Given the description of an element on the screen output the (x, y) to click on. 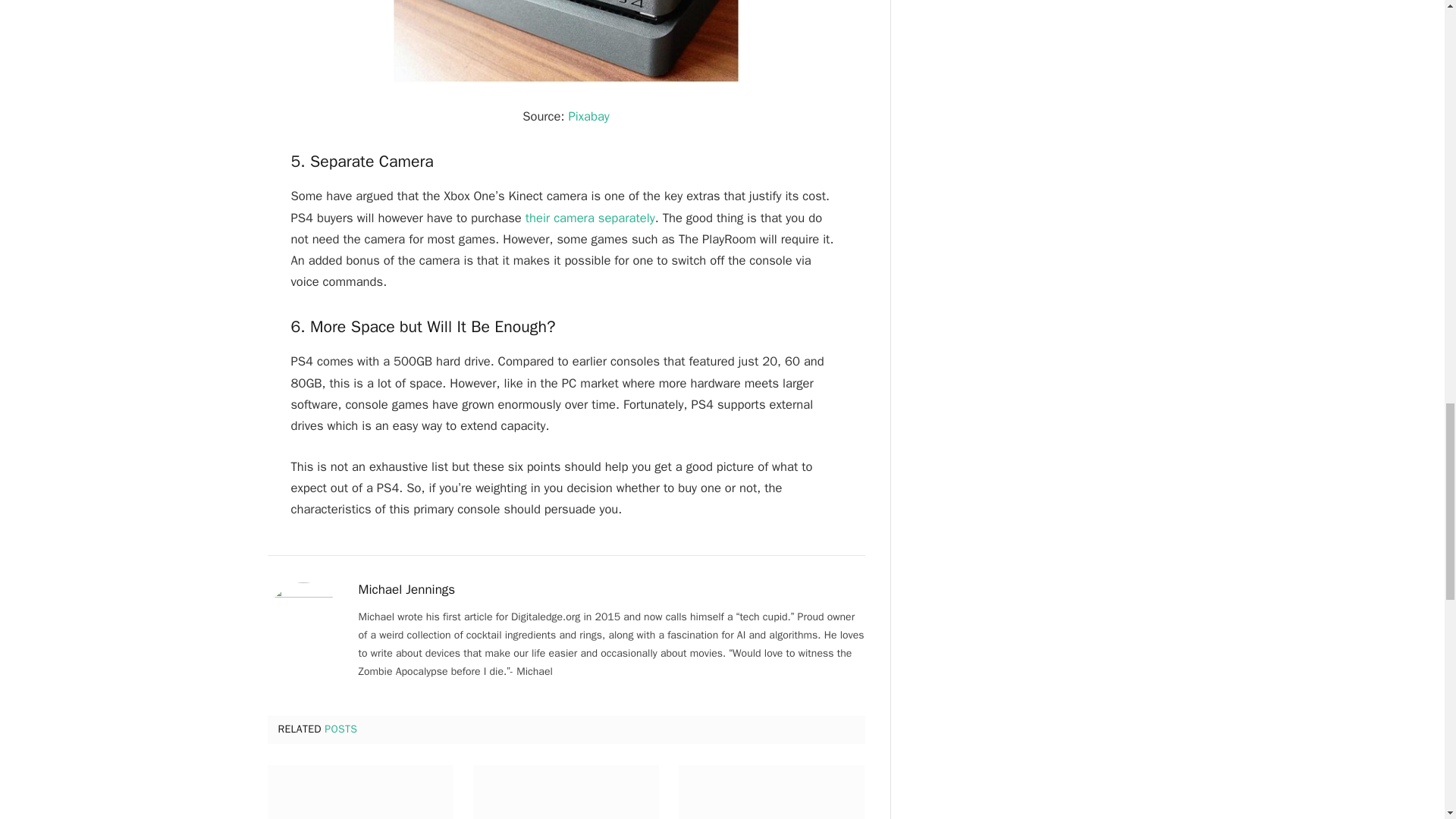
Strategies for Success in Online Casino Affiliate Marketing (566, 791)
Posts by Michael Jennings (406, 589)
